Given the description of an element on the screen output the (x, y) to click on. 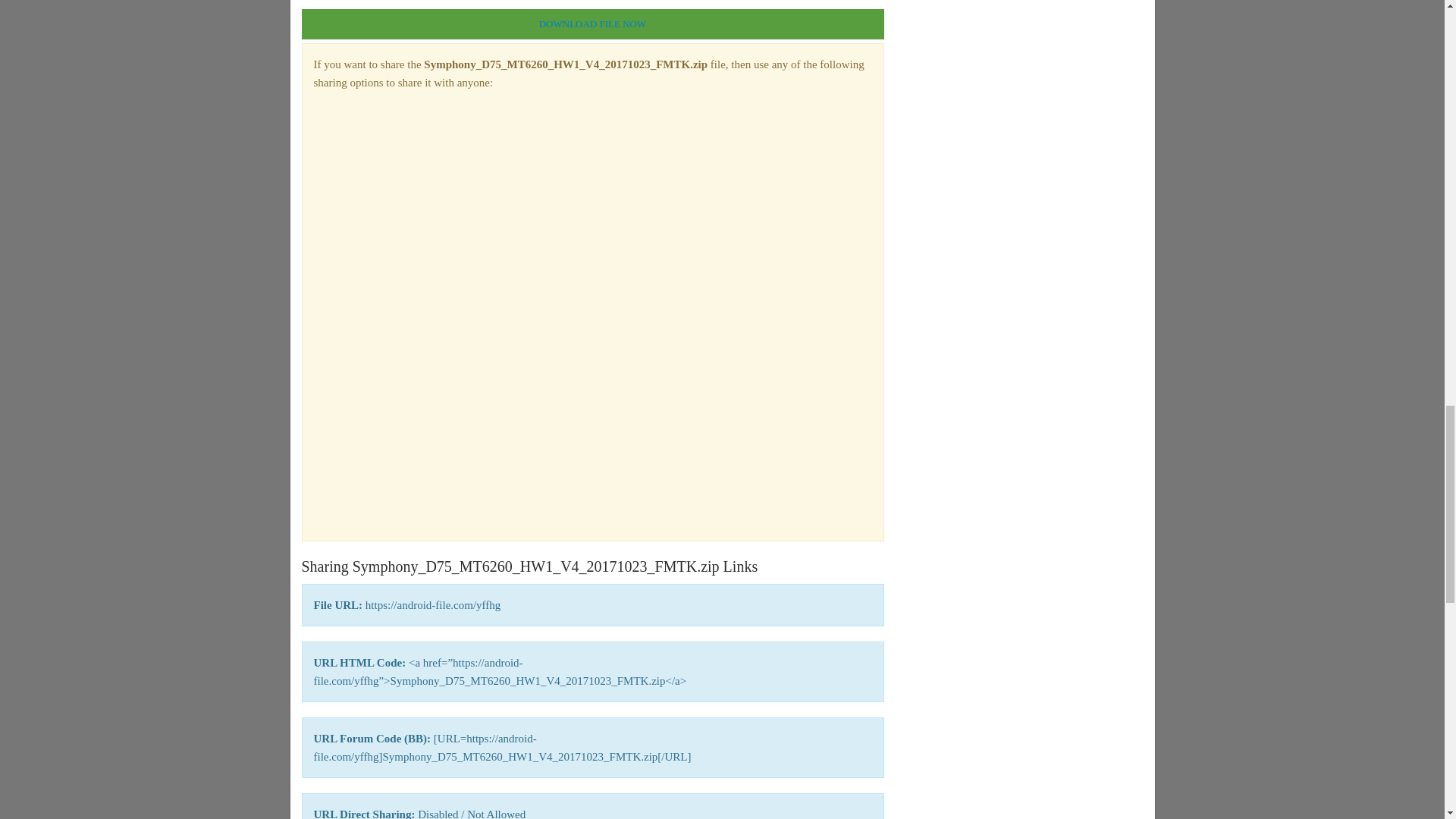
Advertisement (593, 422)
Advertisement (593, 210)
DOWNLOAD FILE NOW (592, 24)
